Given the description of an element on the screen output the (x, y) to click on. 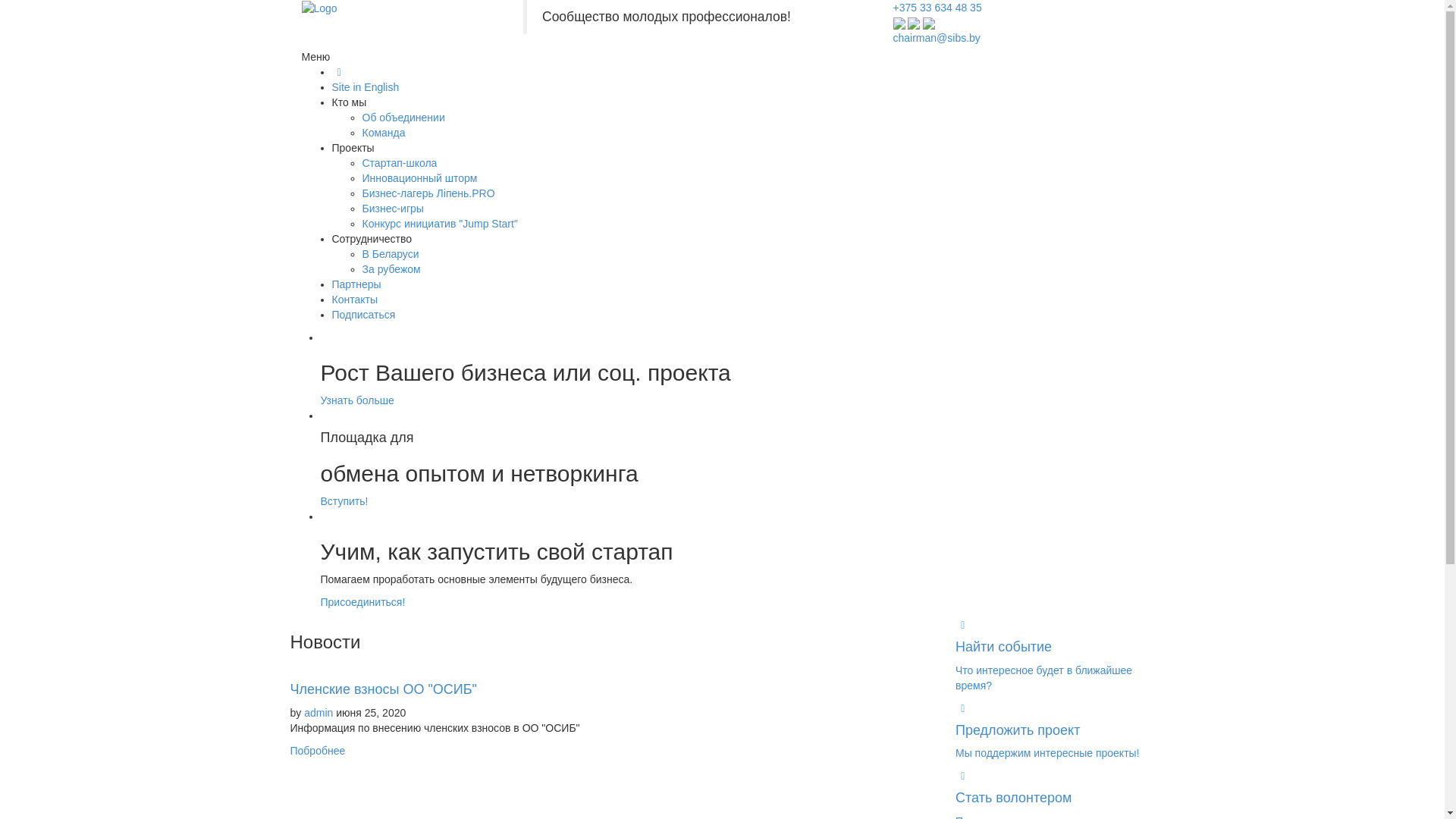
+375 33 634 48 35 Element type: text (937, 7)
chairman@sibs.by Element type: text (936, 37)
Site in English Element type: text (365, 87)
admin Element type: text (318, 712)
